Given the description of an element on the screen output the (x, y) to click on. 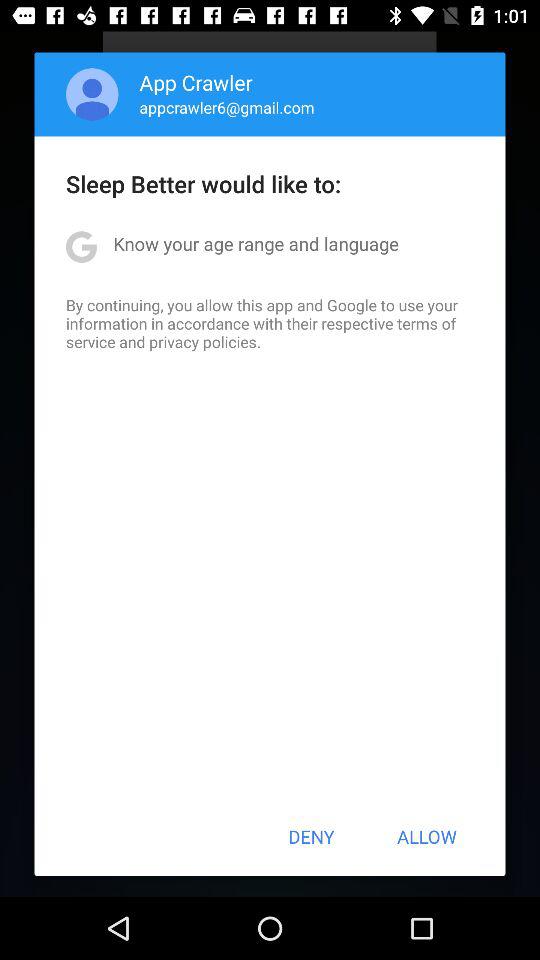
swipe to know your age icon (255, 243)
